Given the description of an element on the screen output the (x, y) to click on. 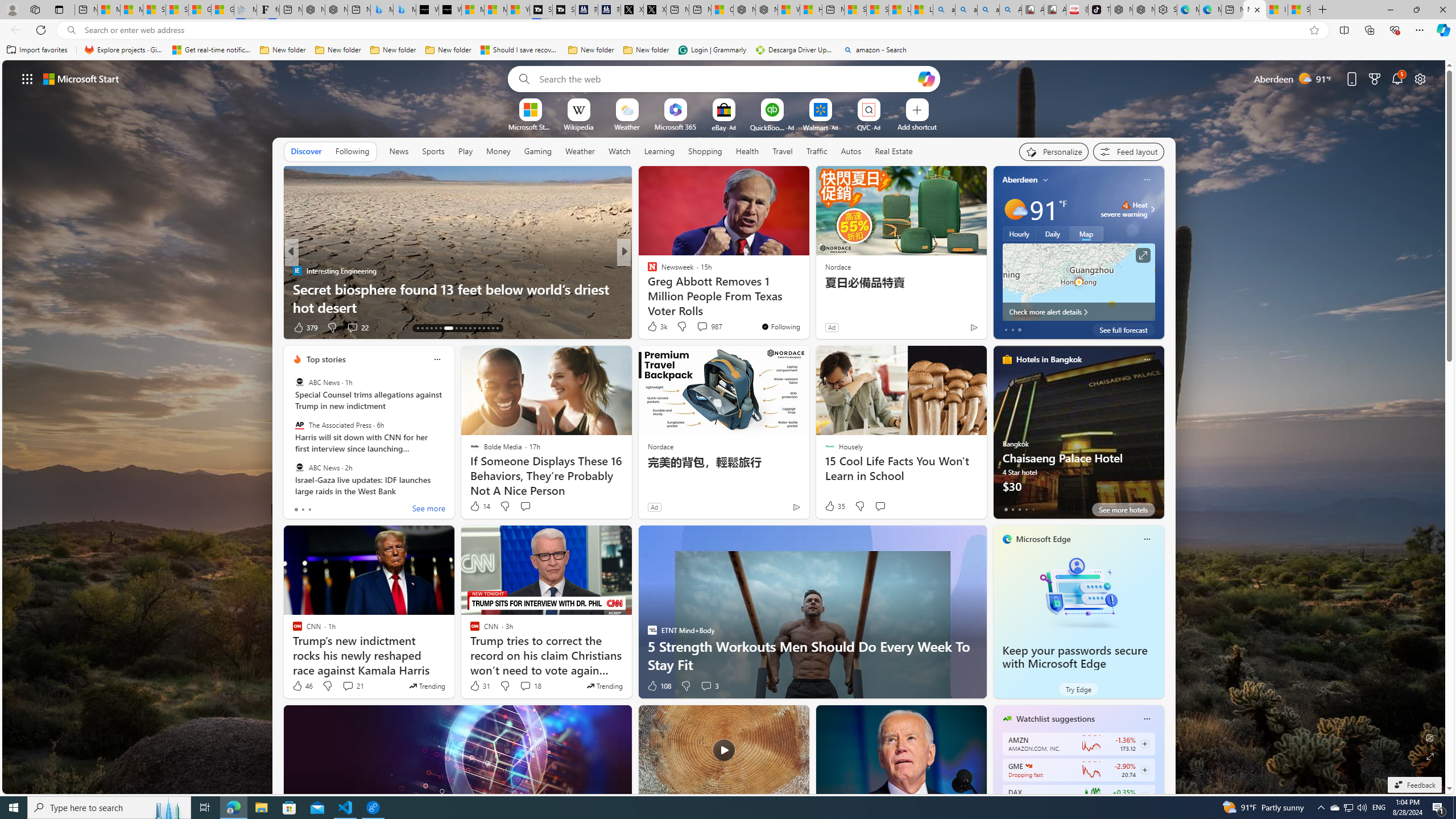
AutomationID: tab-25 (478, 328)
12 Like (652, 327)
AutomationID: tab-15 (426, 328)
View comments 21 Comment (347, 685)
Heat - Severe (1126, 204)
Mostly sunny (1014, 208)
